Given the description of an element on the screen output the (x, y) to click on. 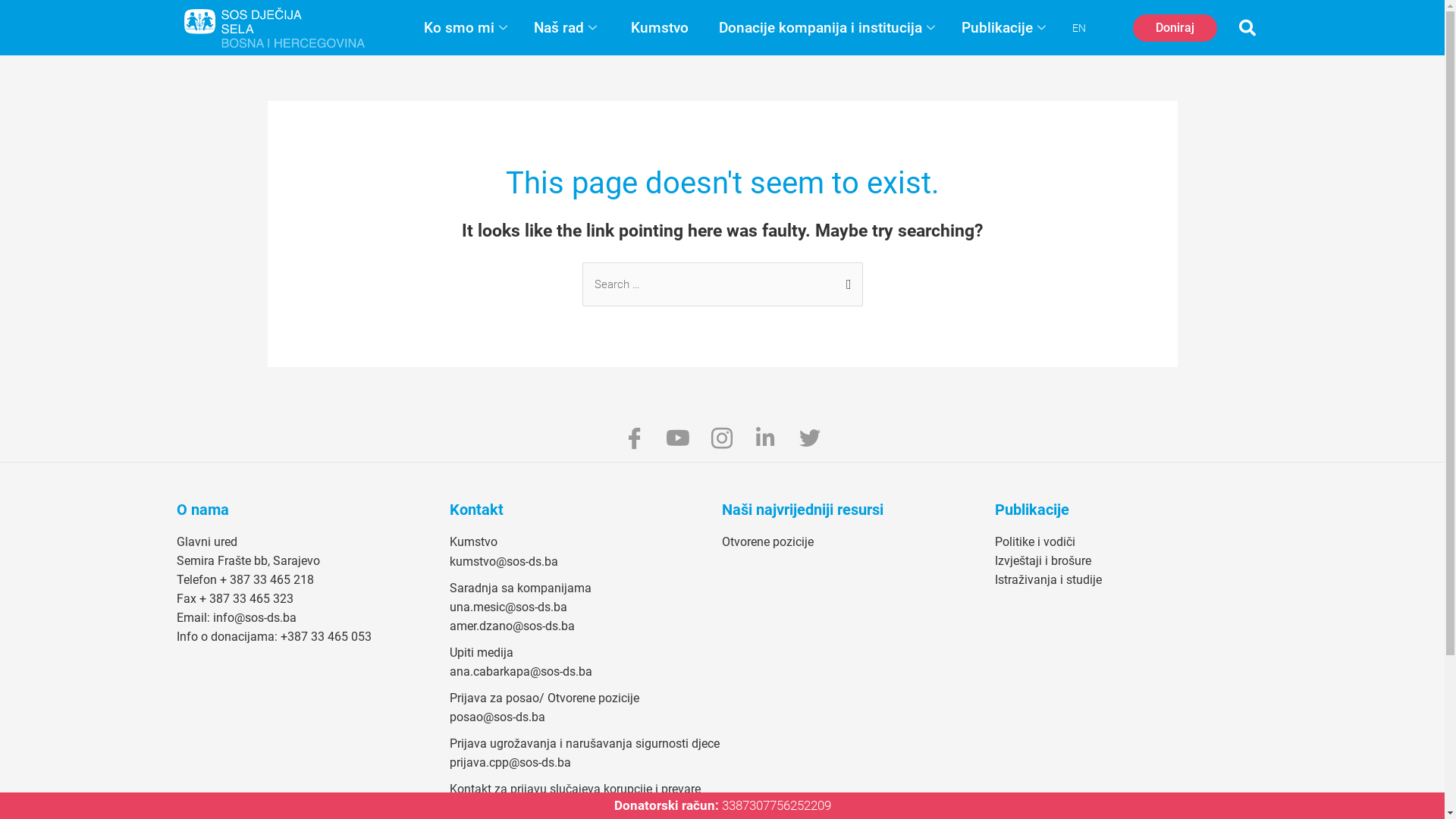
Donacije kompanija i institucija Element type: text (828, 27)
Ko smo mi Element type: text (467, 27)
Publikacije Element type: text (1005, 27)
Search Element type: text (845, 277)
Otvorene pozicije Element type: text (767, 541)
EN Element type: text (1078, 27)
Kumstvo Element type: text (659, 27)
Doniraj Element type: text (1174, 27)
